Given the description of an element on the screen output the (x, y) to click on. 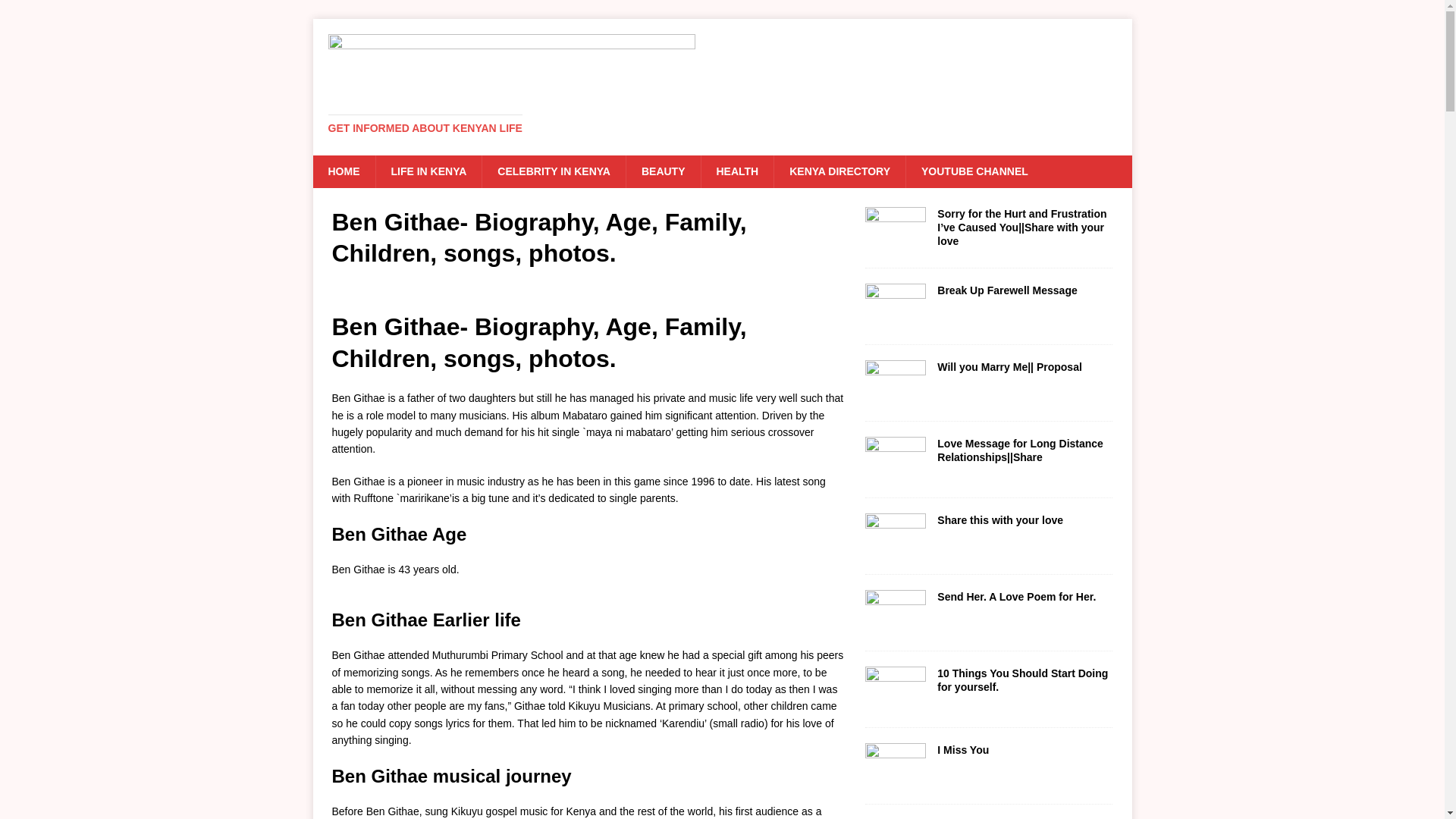
YOUTUBE CHANNEL (974, 171)
HOME (343, 171)
Send Her. A Love Poem for Her. (1016, 596)
Break Up Farewell Message (1007, 290)
Share this with your love (895, 549)
Send Her. A Love Poem for Her. (895, 625)
LIFE IN KENYA (427, 171)
Share this with your love (999, 520)
Break Up Farewell Message (1007, 290)
GET INFORMED ABOUT KENYAN LIFE (424, 128)
